Given the description of an element on the screen output the (x, y) to click on. 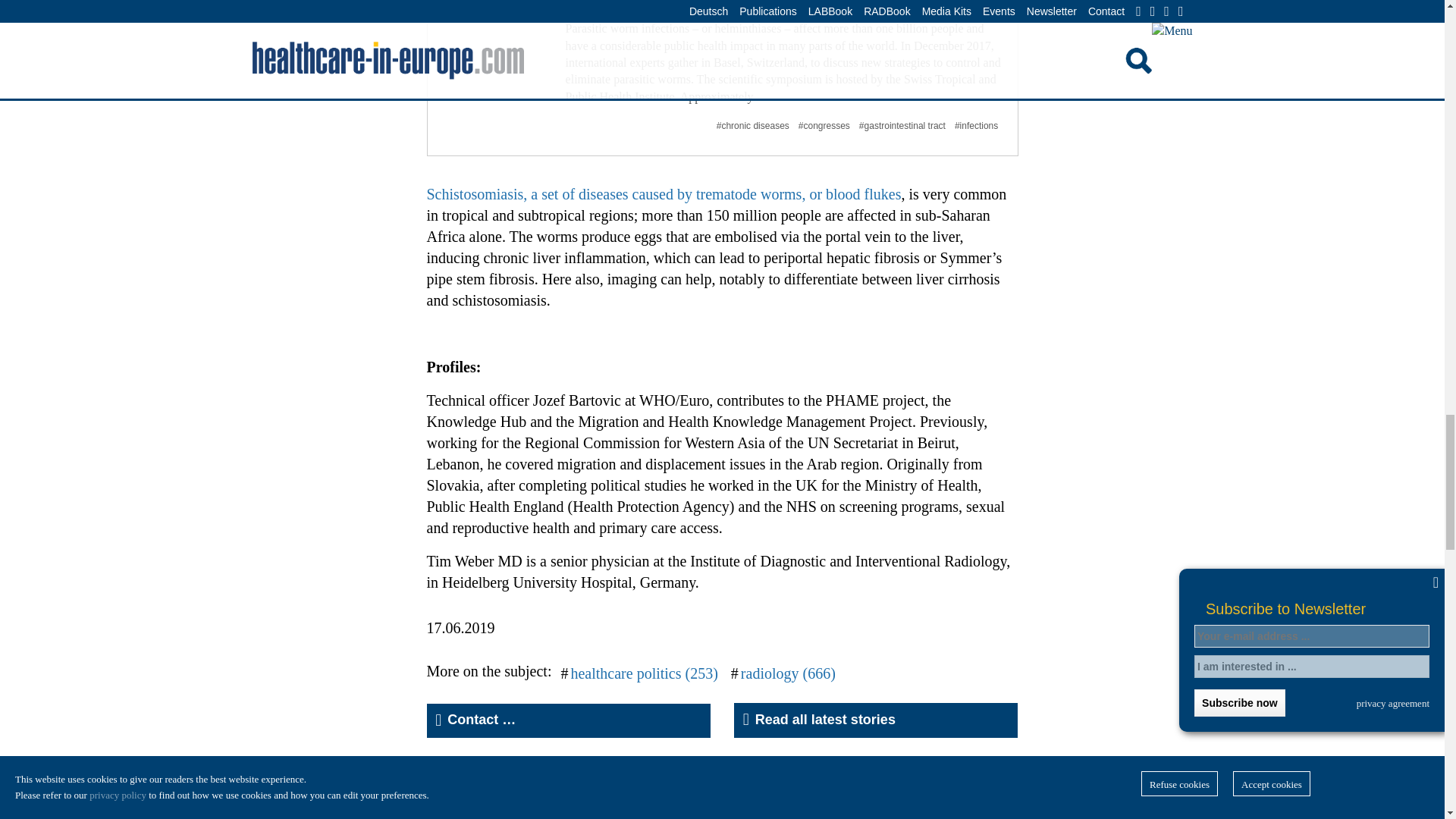
Share on WhatsApp (544, 777)
Share via e-mail (613, 777)
Share on Telegram (579, 777)
Share on facebook (439, 777)
How to tackle parasitic worms (674, 7)
Share on Linked-in (509, 777)
Read all latest stories (875, 719)
Share on twitter (474, 777)
How to tackle parasitic worms (674, 7)
